Given the description of an element on the screen output the (x, y) to click on. 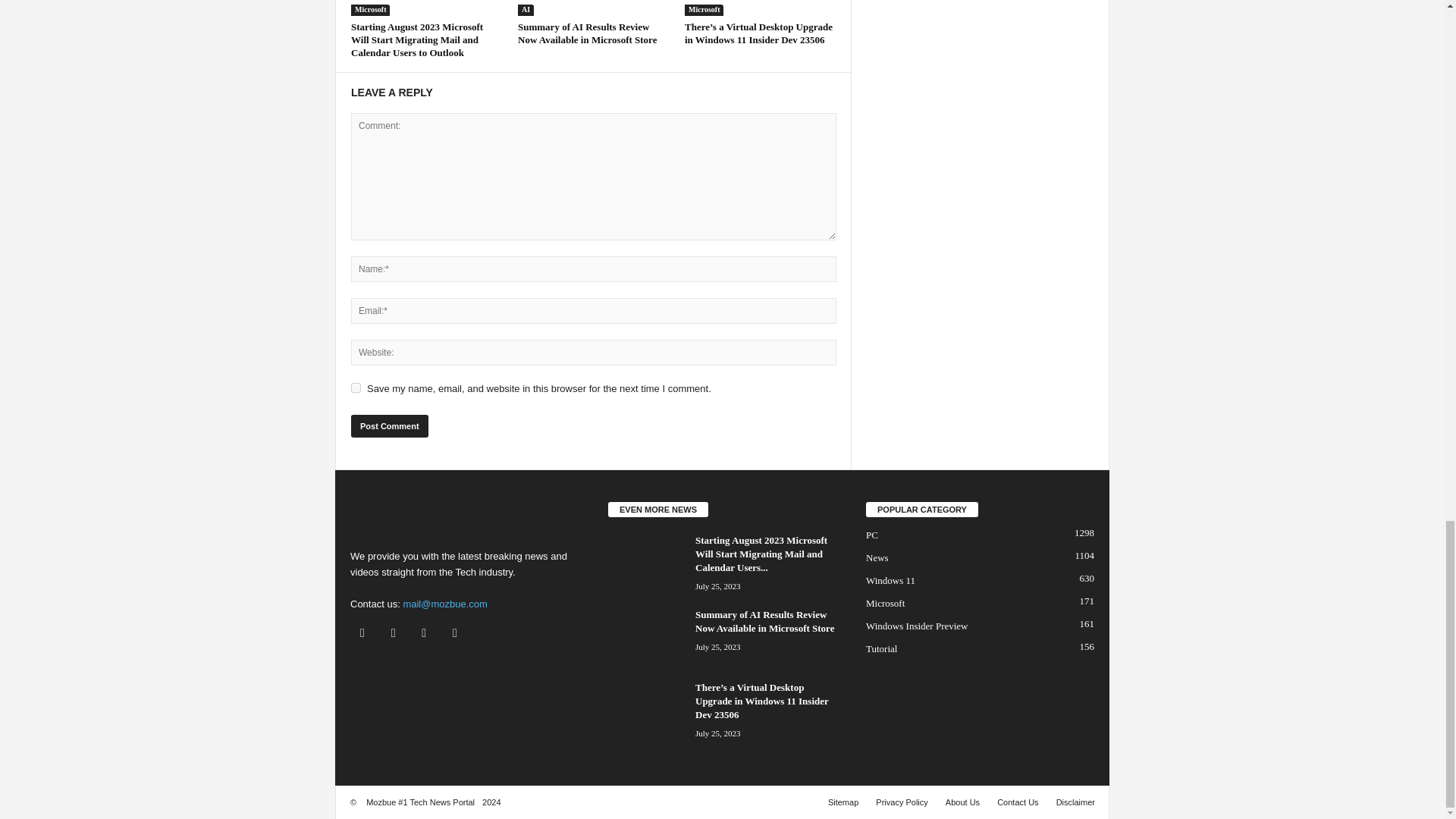
Post Comment (389, 425)
yes (355, 388)
